Given the description of an element on the screen output the (x, y) to click on. 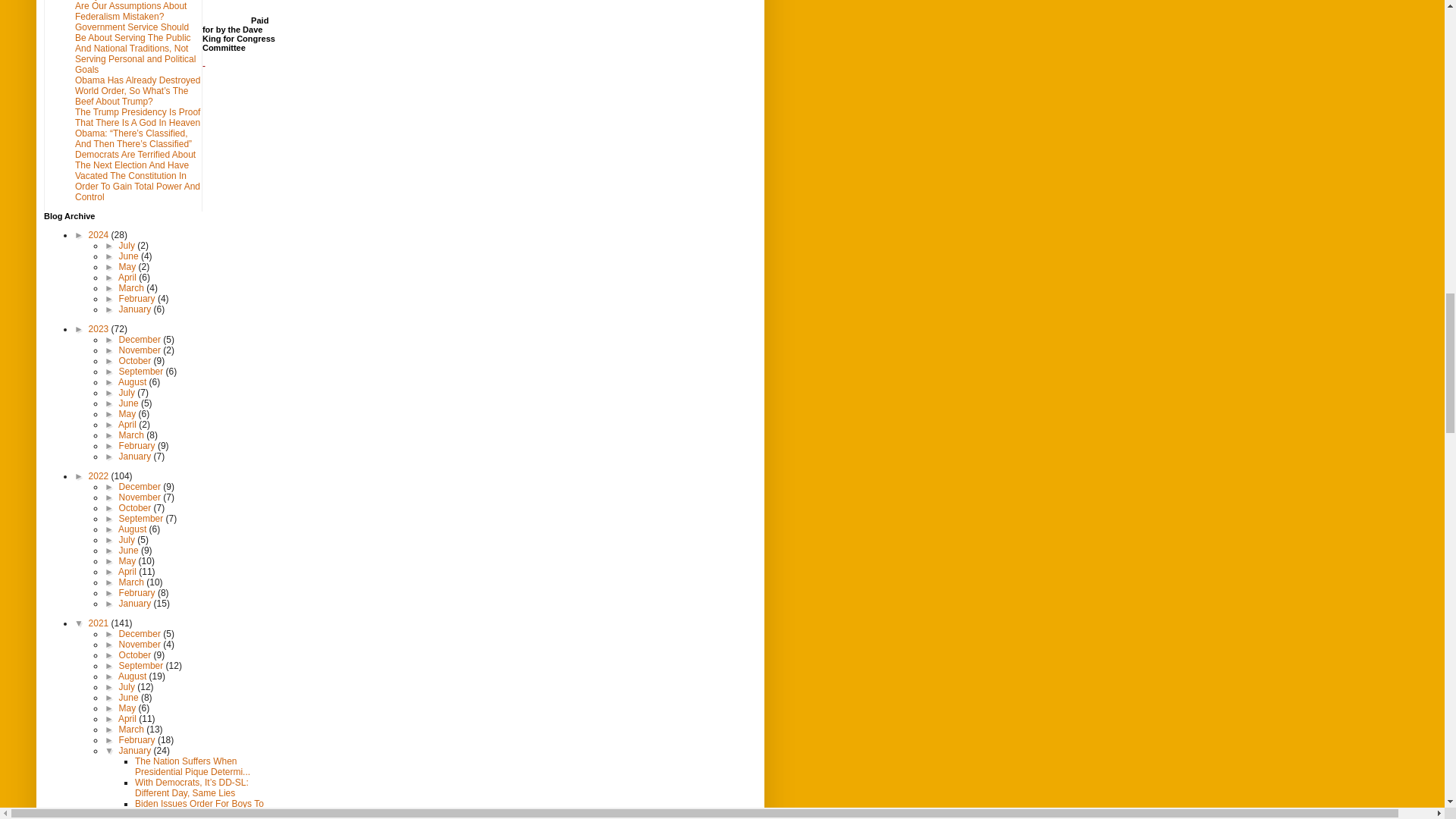
June (130, 255)
2024 (100, 235)
April (127, 276)
July (128, 245)
January (136, 308)
May (128, 266)
Are Our Assumptions About Federalism Mistaken? (130, 11)
March (133, 287)
The Trump Presidency Is Proof That There Is A God In Heaven (137, 117)
2023 (100, 328)
February (138, 298)
